Given the description of an element on the screen output the (x, y) to click on. 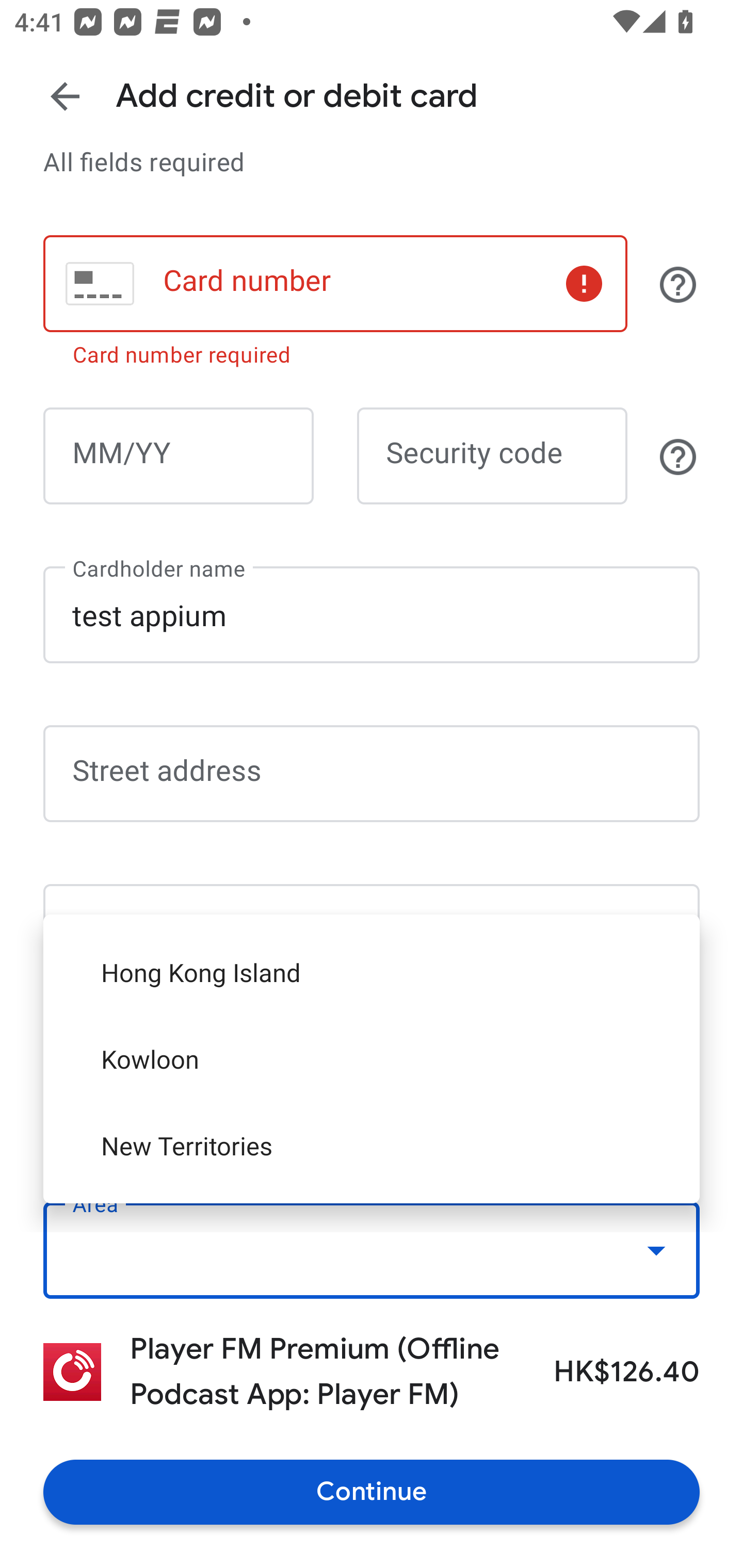
Back (64, 96)
Card number (335, 283)
Button, shows cards that are accepted for payment (677, 284)
Expiration date, 2 digit month, 2 digit year (178, 455)
Security code (492, 455)
Security code help (677, 456)
test appium (371, 614)
Street address (371, 772)
Apt, suite, etc. (optional) (371, 932)
District (371, 1090)
Area (371, 1249)
Show dropdown menu (655, 1250)
Continue (371, 1491)
